Given the description of an element on the screen output the (x, y) to click on. 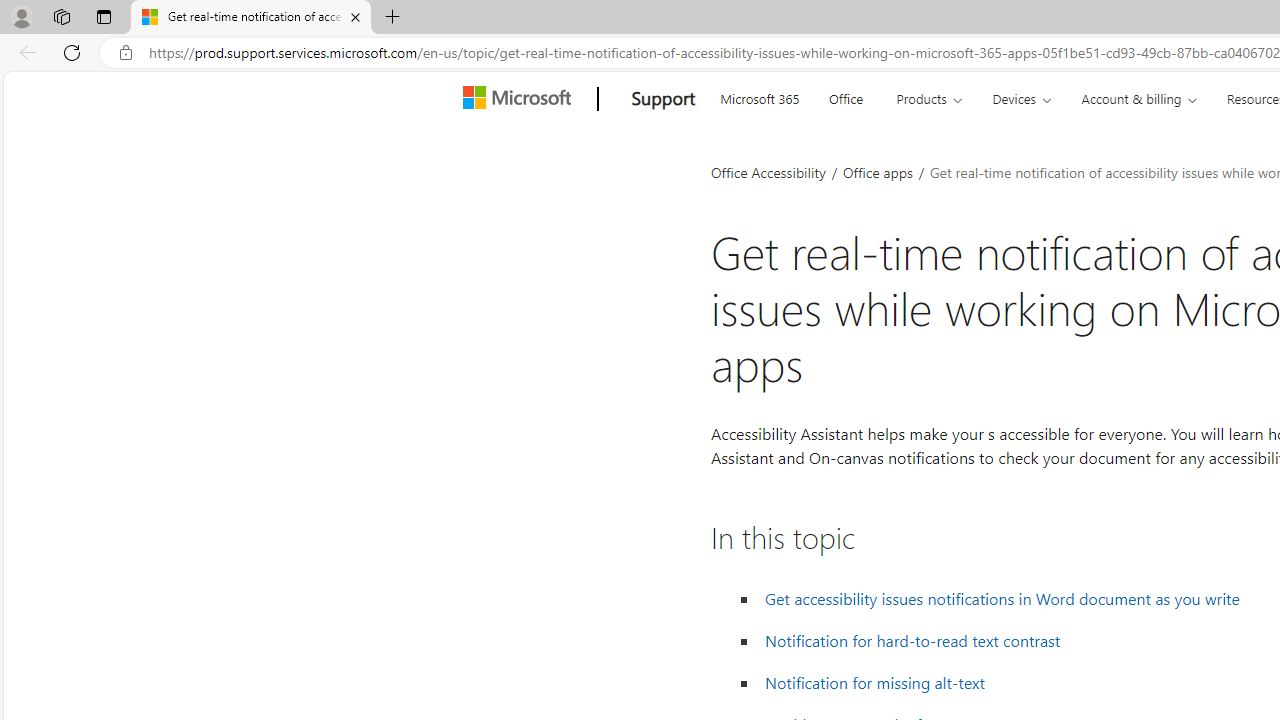
Refresh (72, 52)
 Notification for missing alt-text (875, 682)
Office (845, 96)
Personal Profile (21, 16)
Microsoft 365 (759, 96)
View site information (125, 53)
Workspaces (61, 16)
Close tab (354, 16)
Back (24, 52)
Tab actions menu (104, 16)
